Given the description of an element on the screen output the (x, y) to click on. 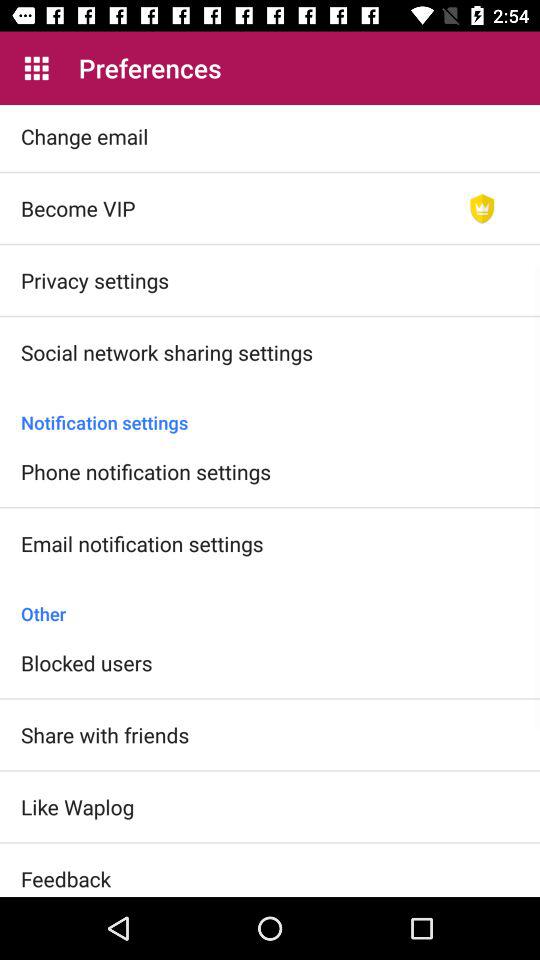
launch item below the email notification settings (270, 603)
